Given the description of an element on the screen output the (x, y) to click on. 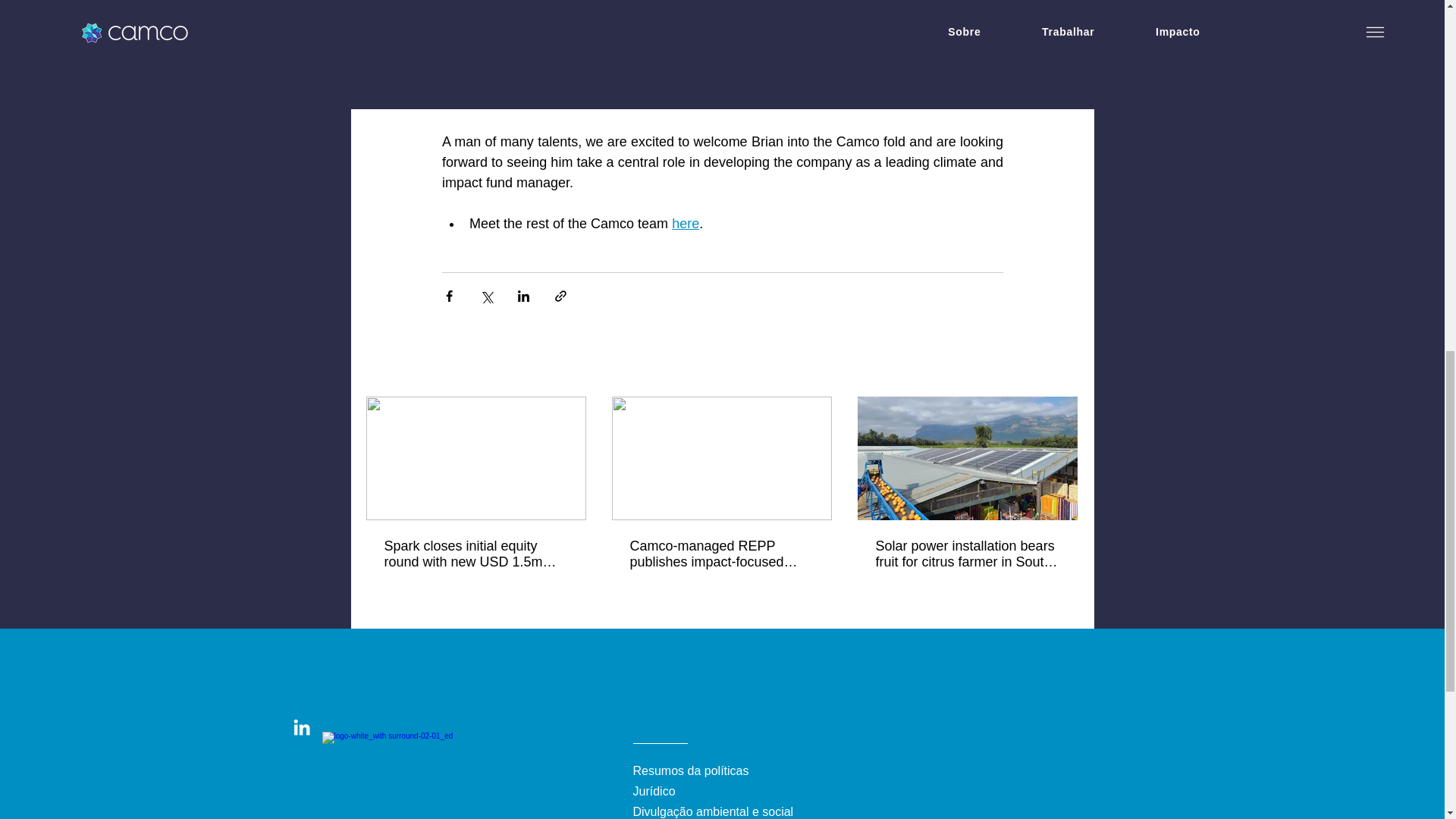
Camco-managed REPP publishes impact-focused annual report (720, 554)
here (684, 223)
